Given the description of an element on the screen output the (x, y) to click on. 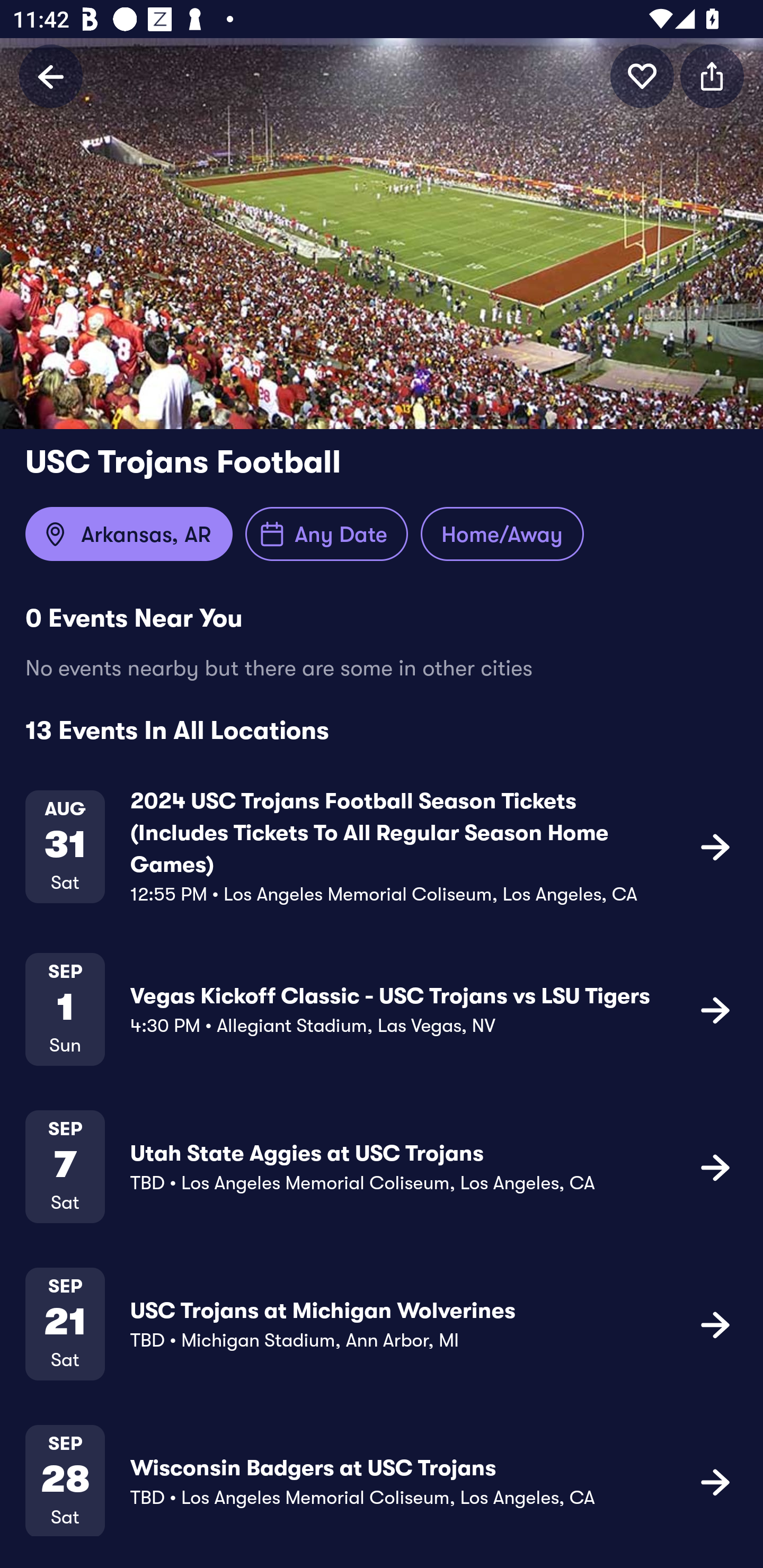
Back (50, 75)
icon button (641, 75)
icon button (711, 75)
Arkansas, AR (128, 533)
Any Date (326, 533)
Home/Away (501, 533)
icon button (714, 846)
icon button (714, 1009)
icon button (714, 1166)
icon button (714, 1323)
icon button (714, 1481)
